Given the description of an element on the screen output the (x, y) to click on. 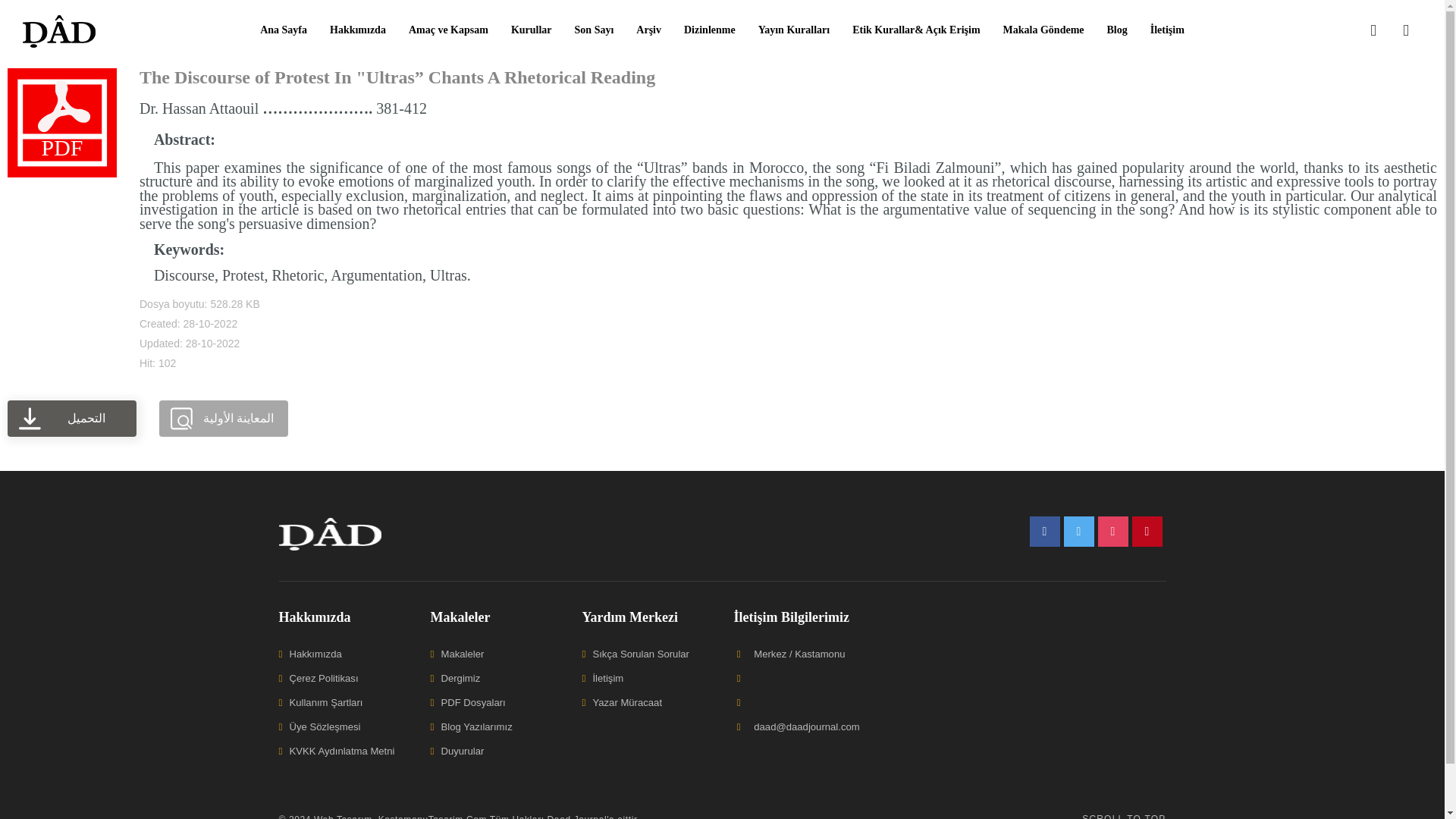
SCROLL TO TOP (1123, 814)
Instagram (1112, 531)
Ana Sayfa (283, 30)
Twitter (1077, 531)
Facebook (1044, 531)
Kurullar (531, 30)
Pinterest (1146, 531)
